Given the description of an element on the screen output the (x, y) to click on. 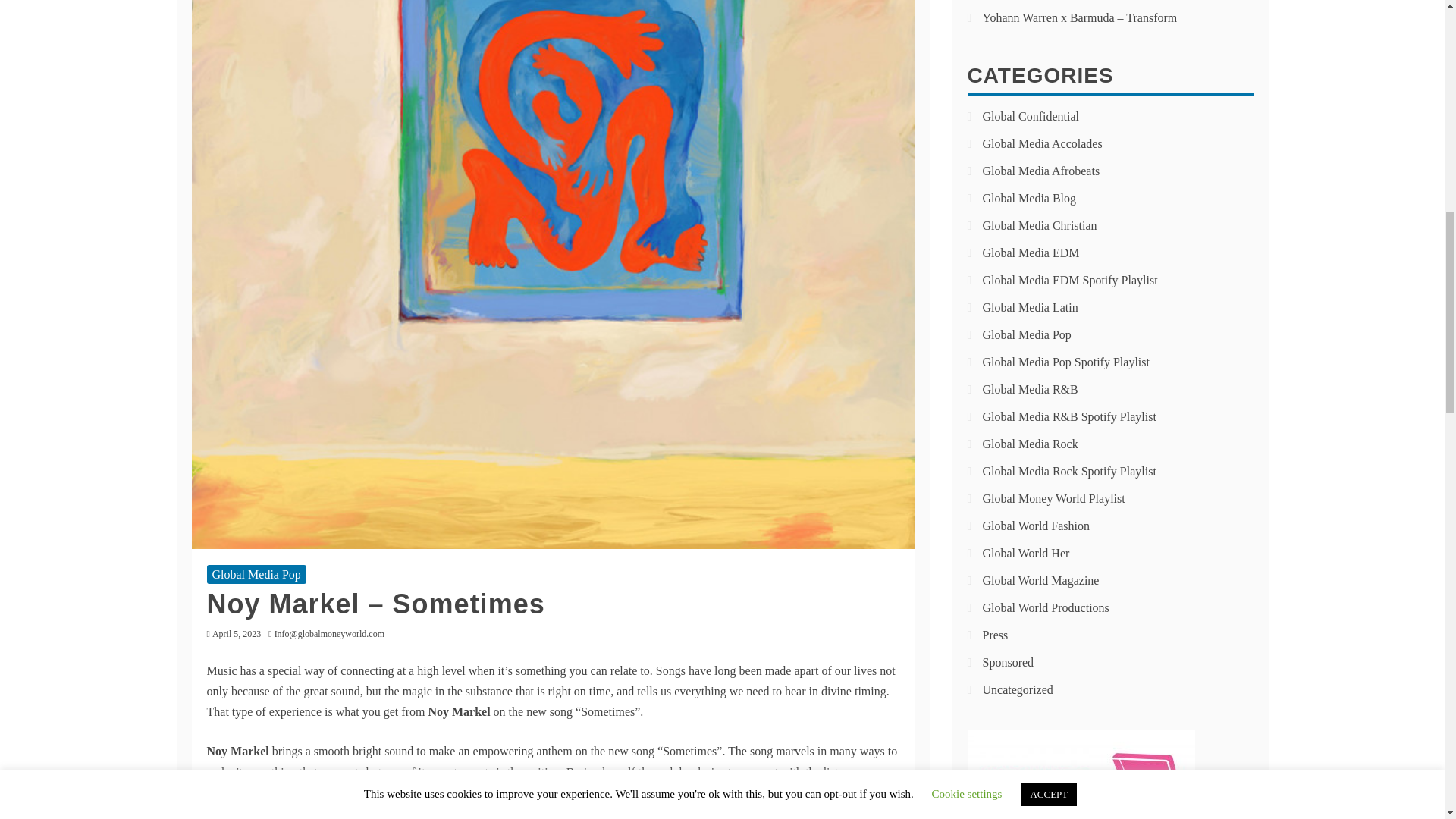
Global Media Pop (255, 574)
